Given the description of an element on the screen output the (x, y) to click on. 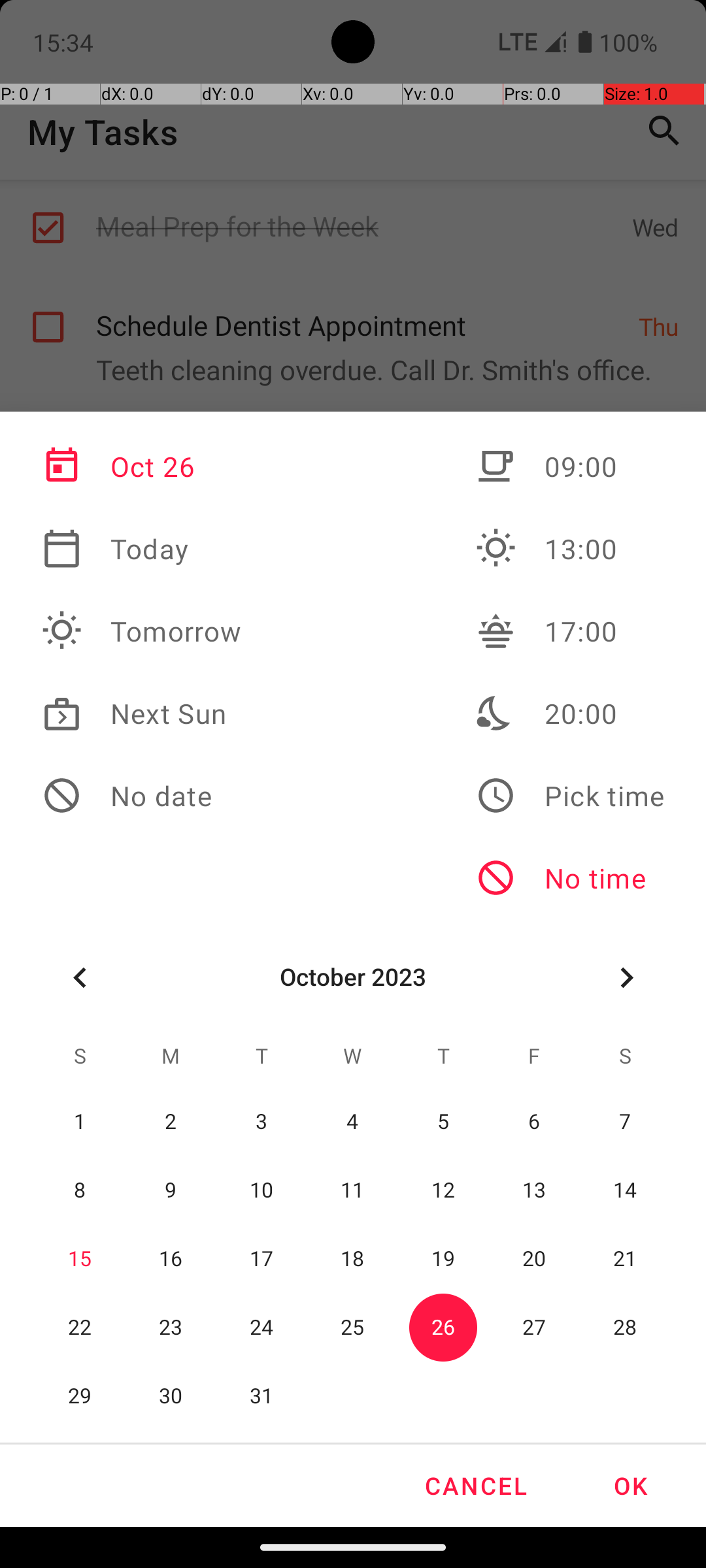
Oct 26 Element type: android.widget.CompoundButton (141, 466)
